Given the description of an element on the screen output the (x, y) to click on. 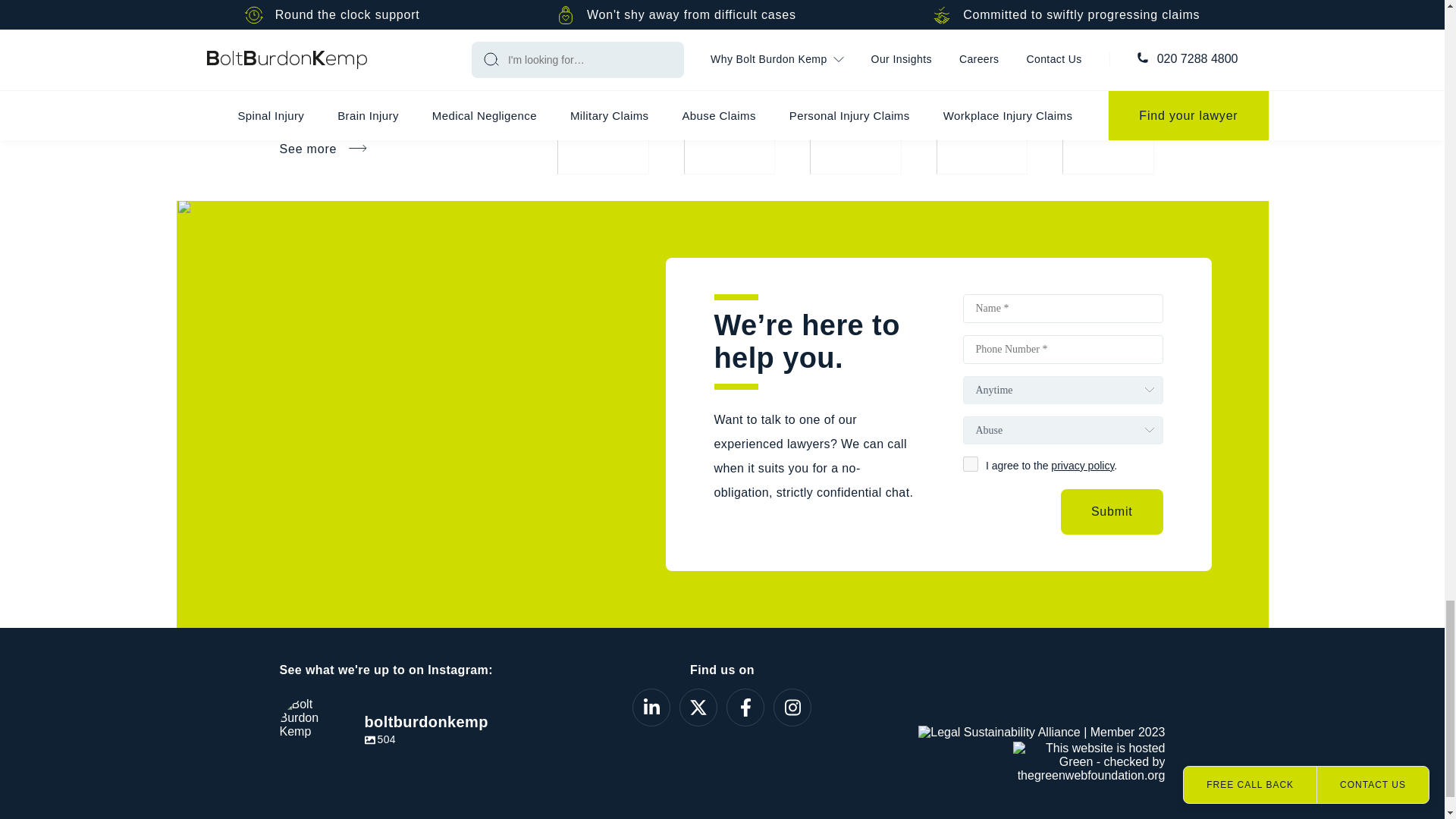
Submit (1112, 511)
1 (970, 463)
